Given the description of an element on the screen output the (x, y) to click on. 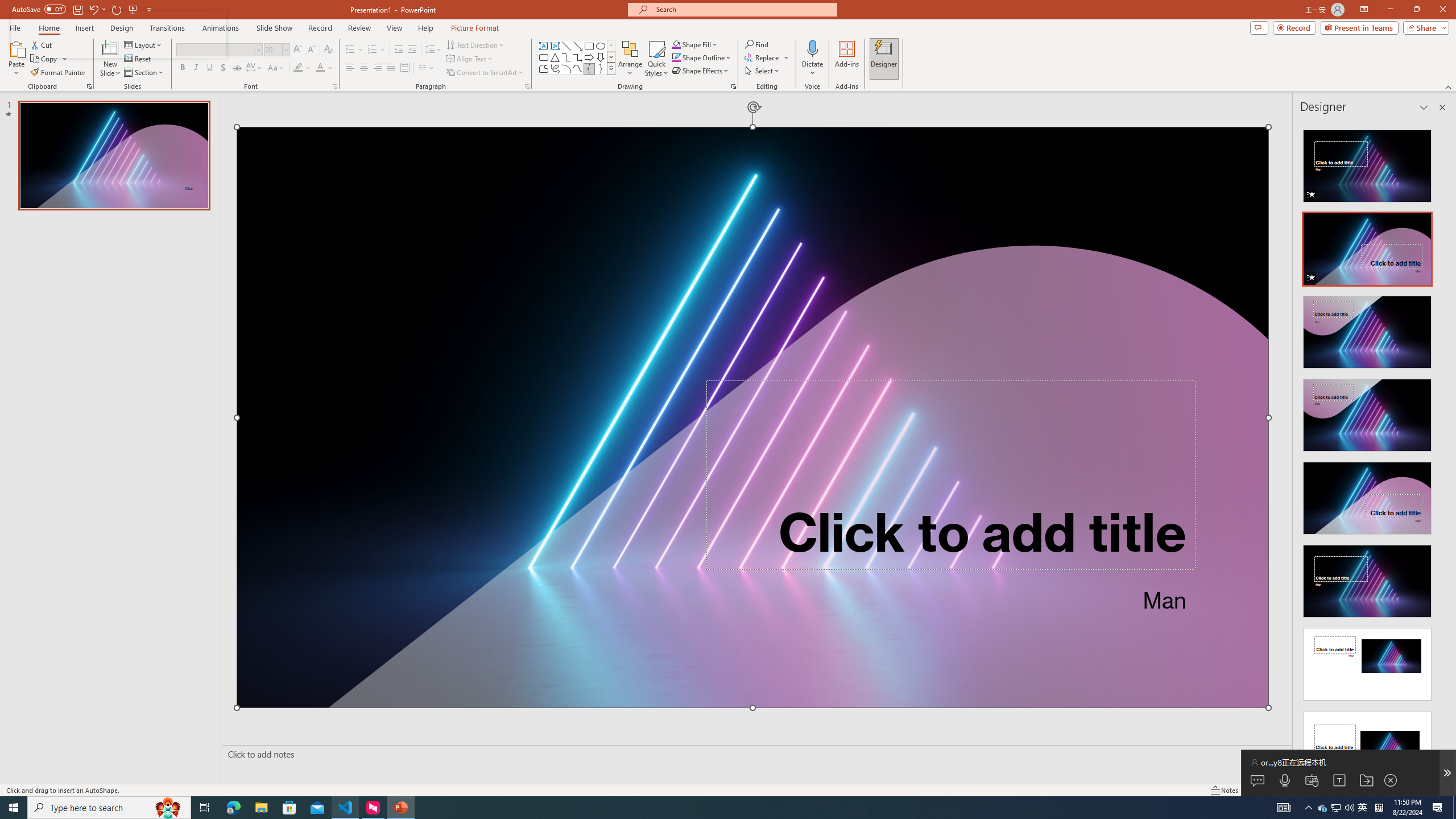
Quick Access Toolbar (82, 9)
Curve (577, 68)
Paragraph... (526, 85)
Decrease Indent (398, 49)
Class: MsoCommandBar (728, 789)
Arrow: Down (600, 57)
Zoom In (1412, 790)
Ribbon Display Options (1364, 9)
Rectangle: Rounded Corners (543, 57)
Align Right (377, 67)
Shape Outline (701, 56)
Numbering (372, 49)
Line Arrow (577, 45)
More Options (812, 68)
Font Color (324, 67)
